Given the description of an element on the screen output the (x, y) to click on. 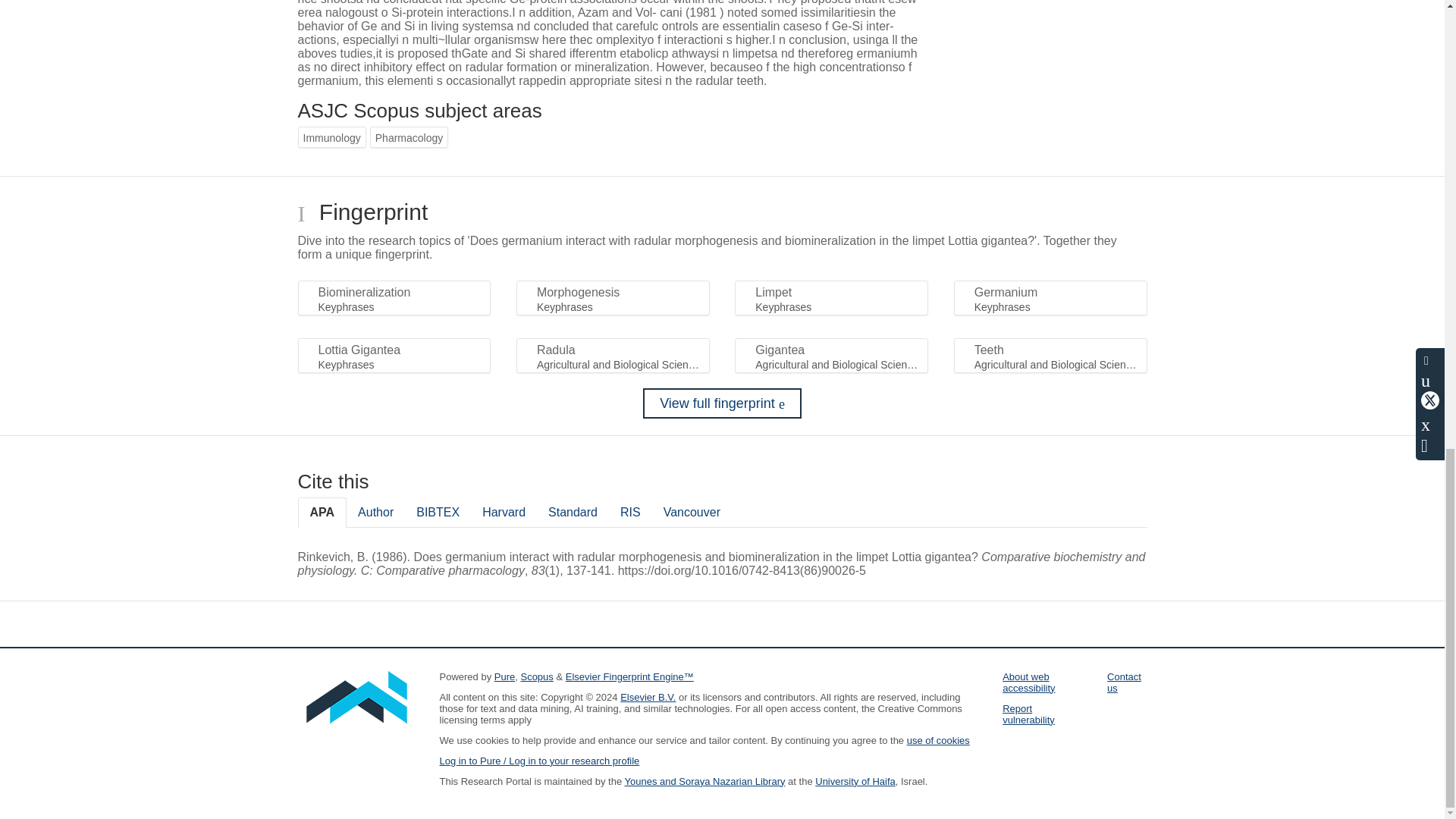
About web accessibility (1028, 681)
University of Haifa (855, 781)
Elsevier B.V. (647, 696)
Scopus (536, 676)
Younes and Soraya Nazarian Library (705, 781)
Pure (505, 676)
use of cookies (938, 740)
Report vulnerability (1028, 713)
View full fingerprint (722, 403)
